Given the description of an element on the screen output the (x, y) to click on. 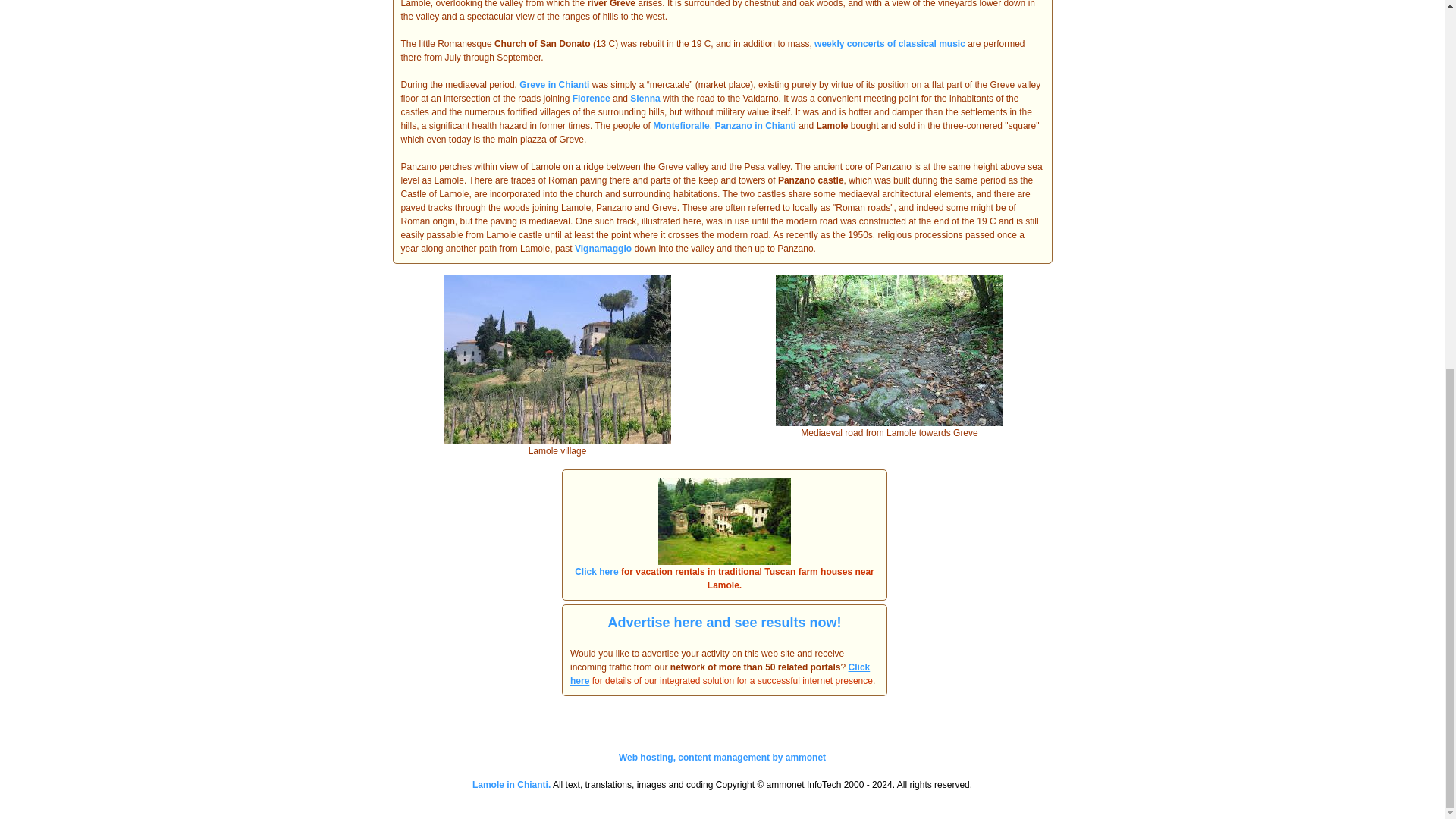
Panzano in Chianti (754, 125)
weekly concerts of classical music (889, 43)
site map (510, 784)
Montefioralle (681, 125)
Sienna (644, 98)
Vignamaggio (603, 248)
Florence (591, 98)
Greve in Chianti (554, 84)
